Given the description of an element on the screen output the (x, y) to click on. 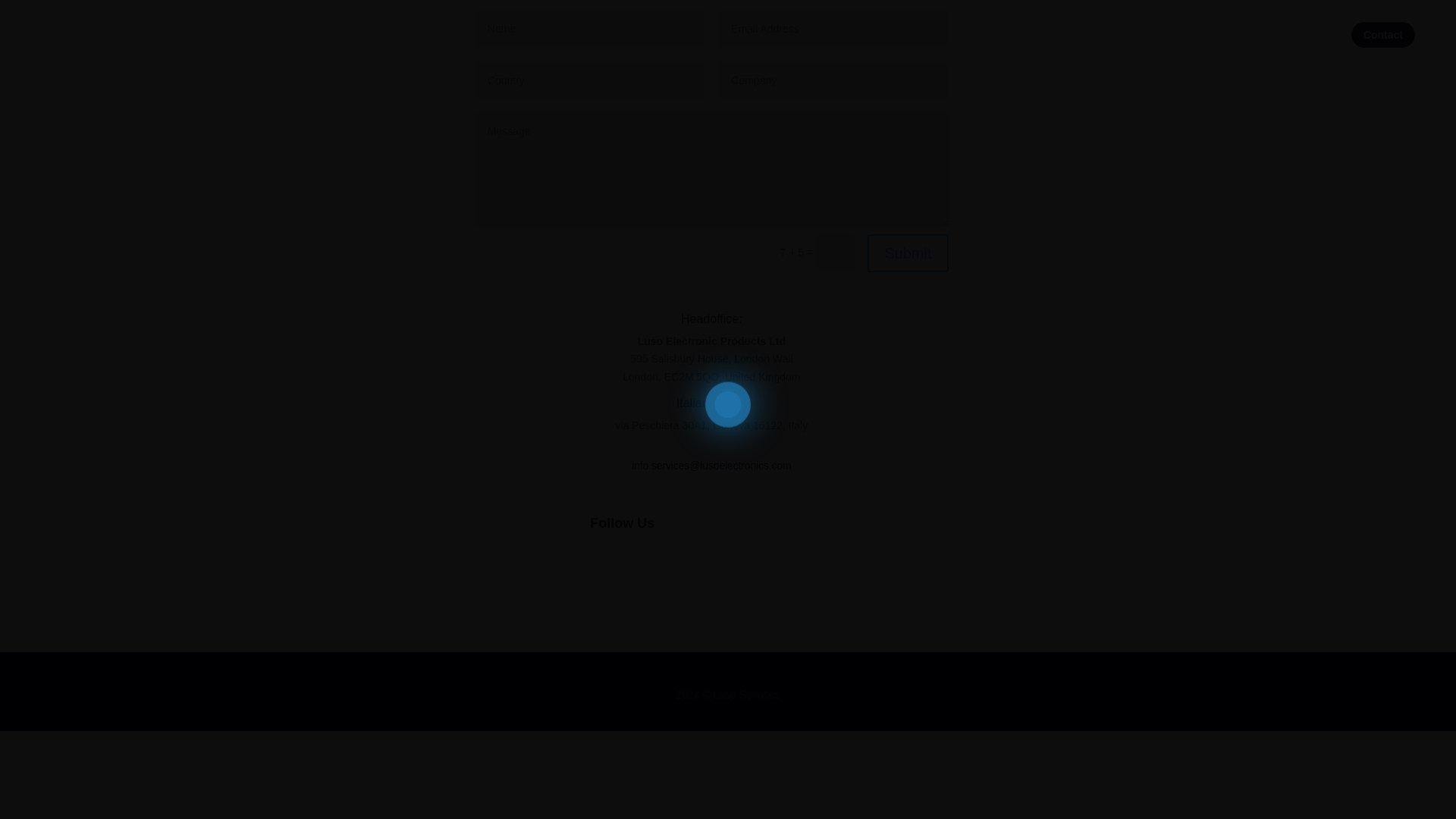
Follow on LinkedIn (650, 572)
Follow on Youtube (772, 572)
Follow on Instagram (741, 572)
Submit (907, 252)
Follow on X (710, 572)
Follow on Facebook (680, 572)
